Given the description of an element on the screen output the (x, y) to click on. 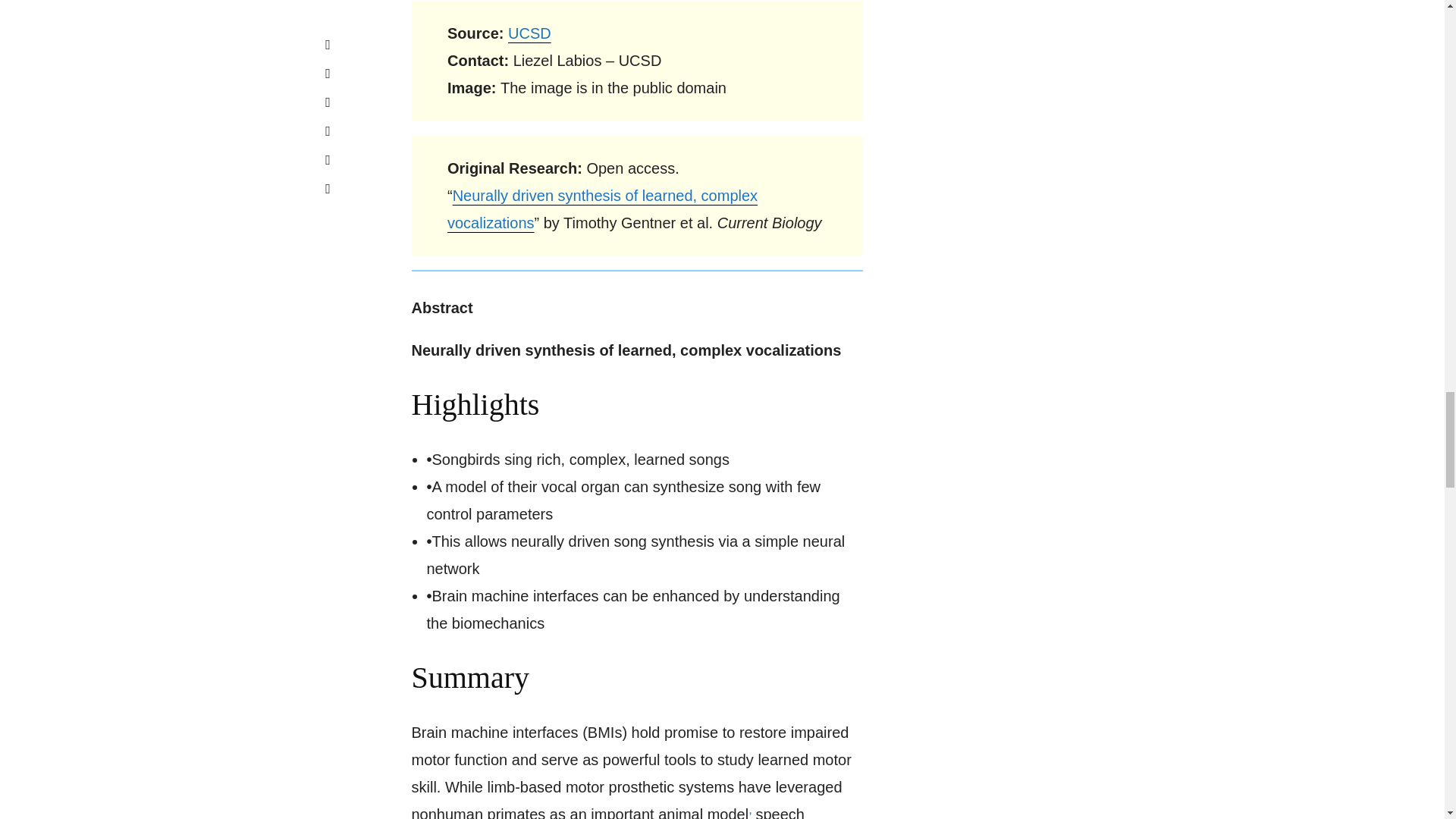
Neurally driven synthesis of learned, complex vocalizations (601, 208)
UCSD (529, 33)
